Given the description of an element on the screen output the (x, y) to click on. 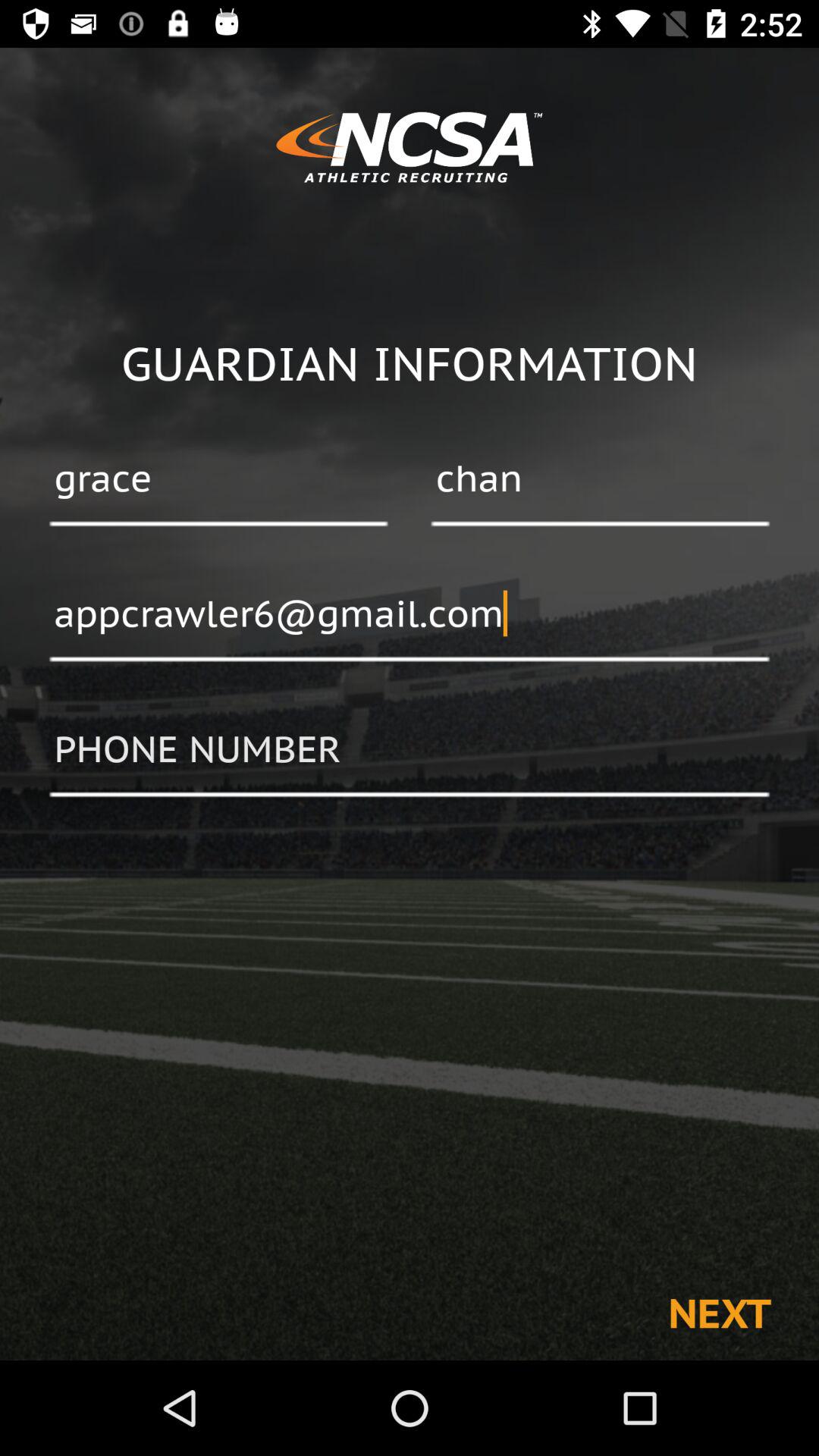
launch item above the next item (409, 750)
